Given the description of an element on the screen output the (x, y) to click on. 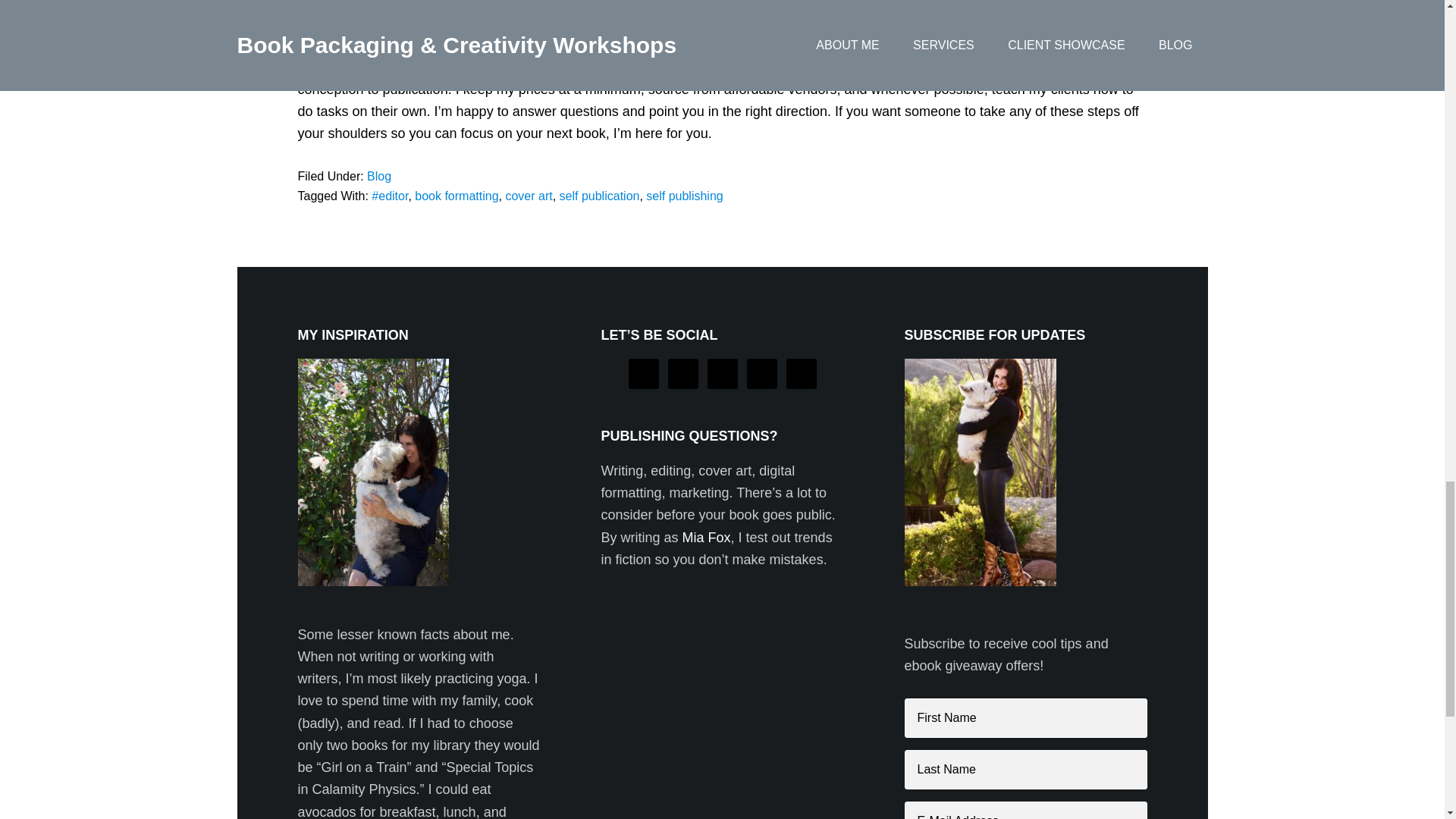
self publication (599, 195)
Mia Fox (706, 537)
self publishing (684, 195)
Blog (378, 175)
cover art (528, 195)
book formatting (455, 195)
